Given the description of an element on the screen output the (x, y) to click on. 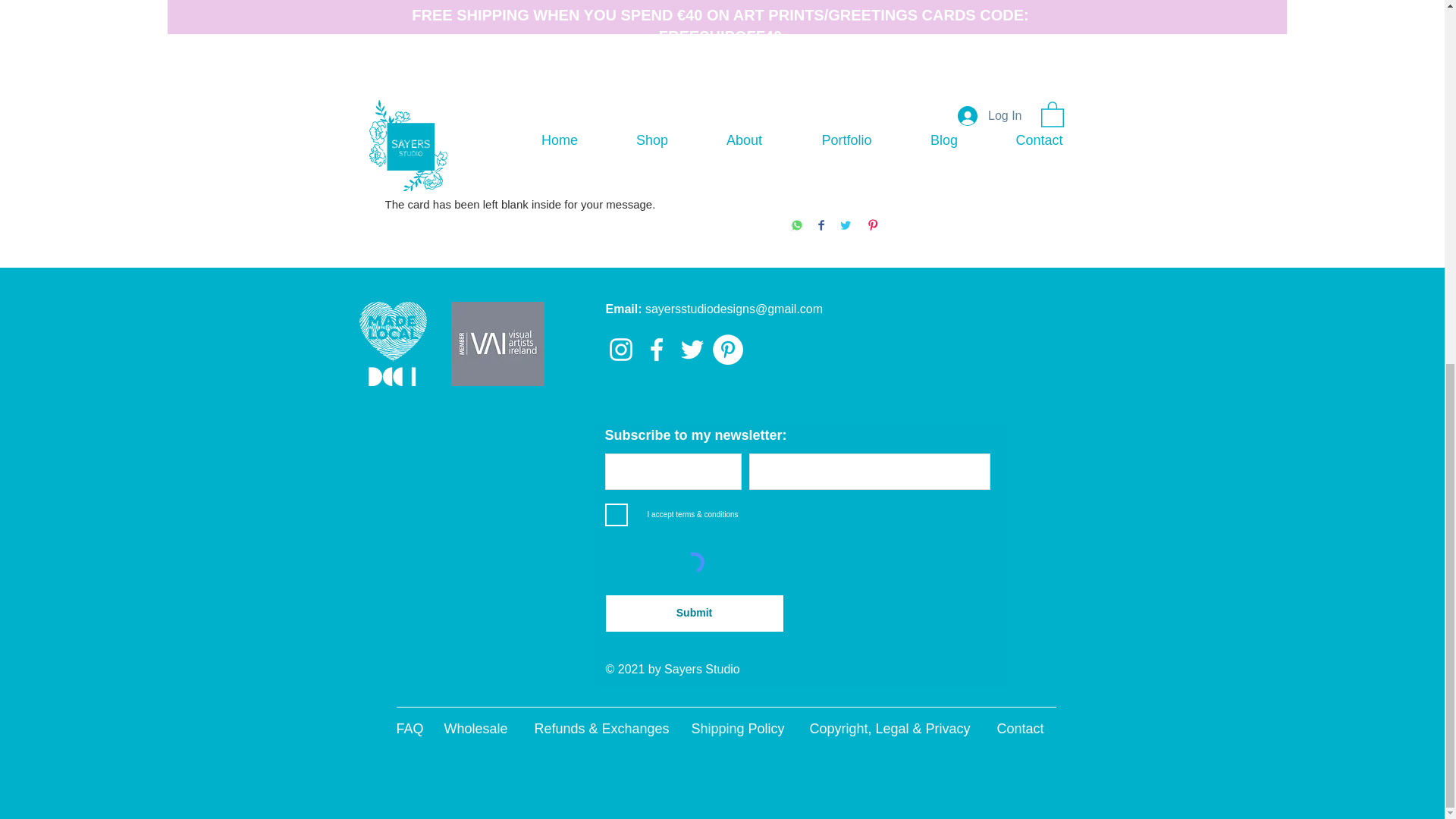
Submit (694, 613)
Returns, exchanges or cancellations (924, 58)
FAQ (409, 728)
Wholesale (476, 728)
